Given the description of an element on the screen output the (x, y) to click on. 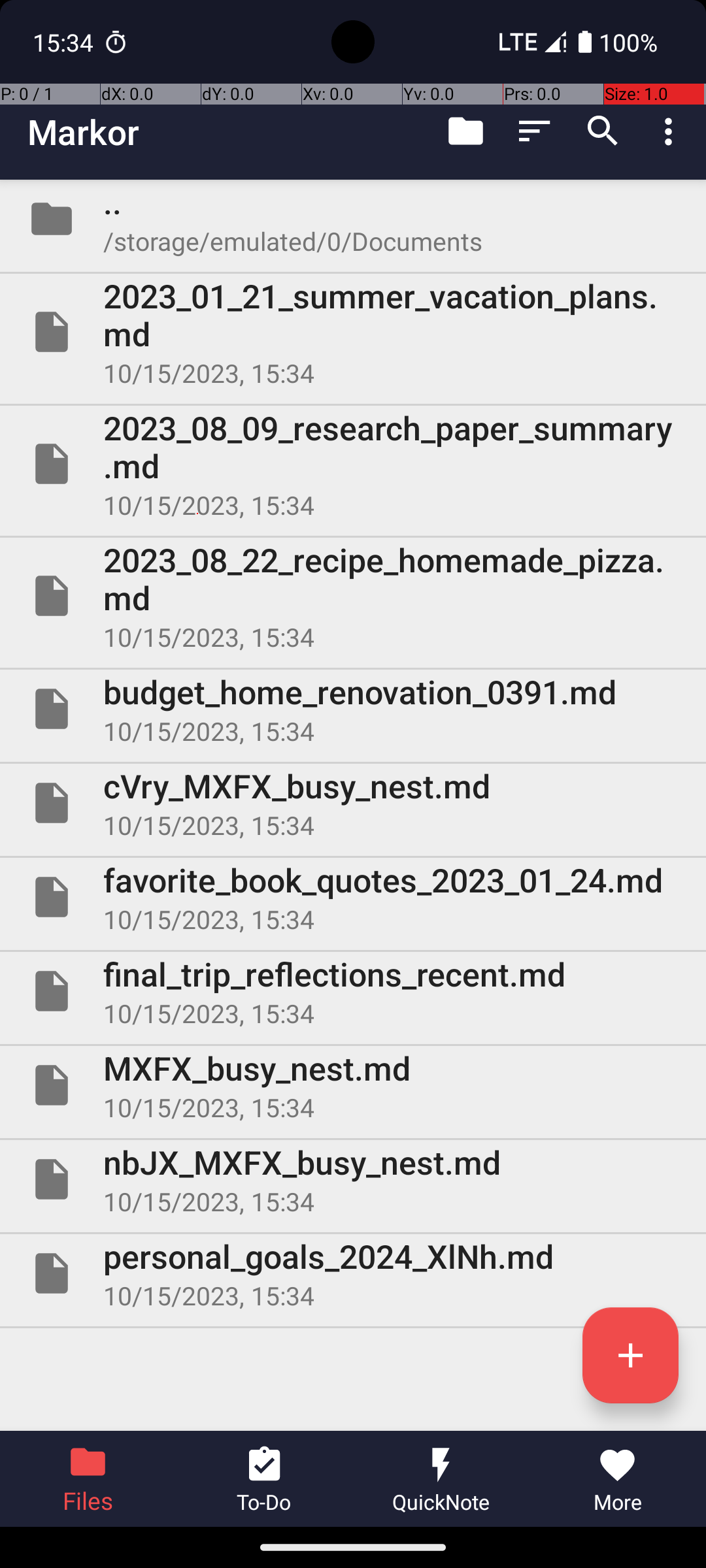
File 2023_01_21_summer_vacation_plans.md  Element type: android.widget.LinearLayout (353, 331)
File 2023_08_09_research_paper_summary.md  Element type: android.widget.LinearLayout (353, 463)
File 2023_08_22_recipe_homemade_pizza.md  Element type: android.widget.LinearLayout (353, 595)
File budget_home_renovation_0391.md  Element type: android.widget.LinearLayout (353, 708)
File cVry_MXFX_busy_nest.md  Element type: android.widget.LinearLayout (353, 802)
File favorite_book_quotes_2023_01_24.md  Element type: android.widget.LinearLayout (353, 896)
File final_trip_reflections_recent.md  Element type: android.widget.LinearLayout (353, 990)
File MXFX_busy_nest.md  Element type: android.widget.LinearLayout (353, 1084)
File nbJX_MXFX_busy_nest.md  Element type: android.widget.LinearLayout (353, 1179)
File personal_goals_2024_XlNh.md  Element type: android.widget.LinearLayout (353, 1273)
